Given the description of an element on the screen output the (x, y) to click on. 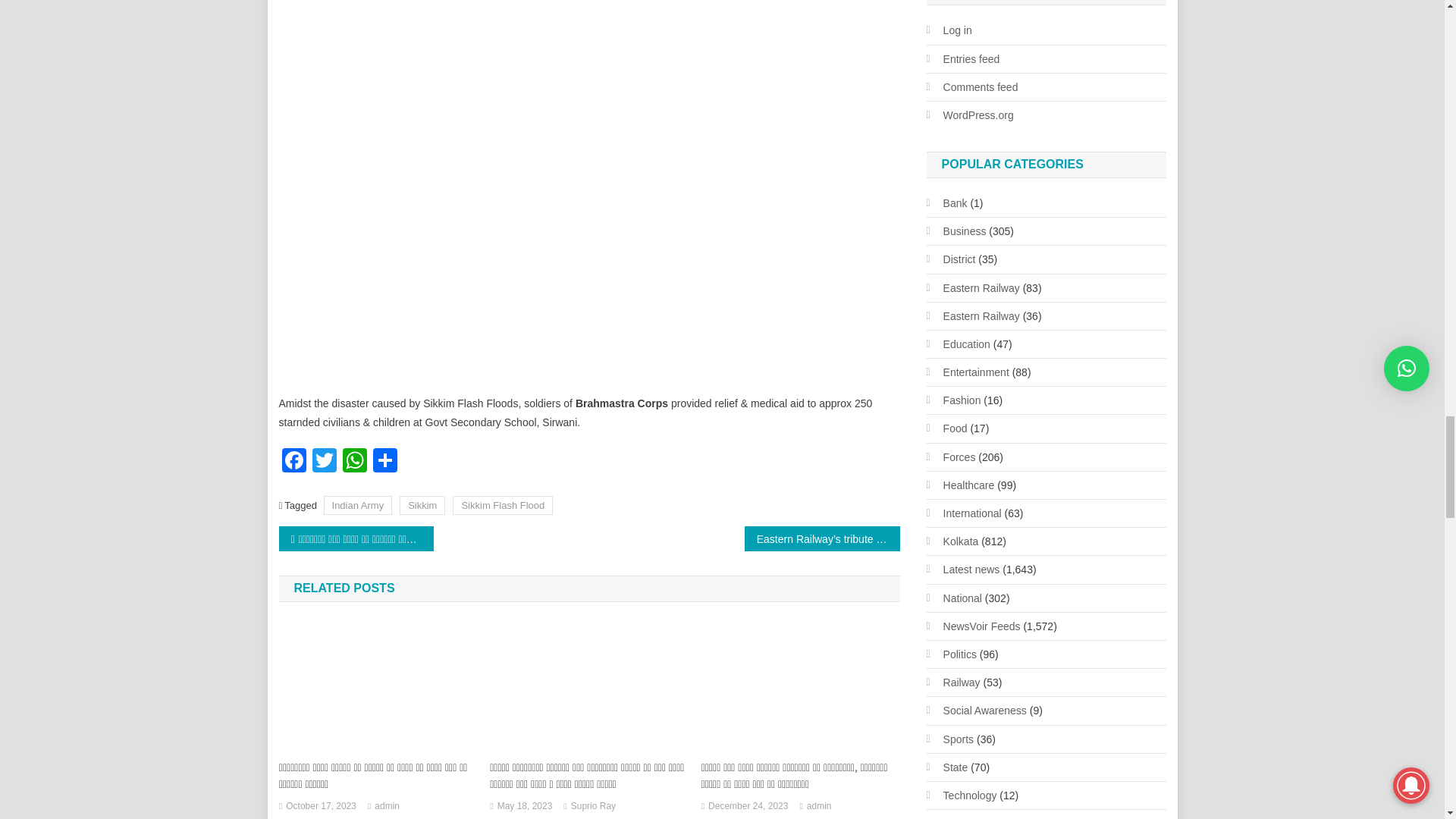
Twitter (323, 461)
Share (384, 461)
Facebook (293, 461)
Twitter (323, 461)
Sikkim (421, 505)
WhatsApp (354, 461)
Facebook (293, 461)
WhatsApp (354, 461)
Indian Army (358, 505)
Sikkim Flash Flood (502, 505)
